Given the description of an element on the screen output the (x, y) to click on. 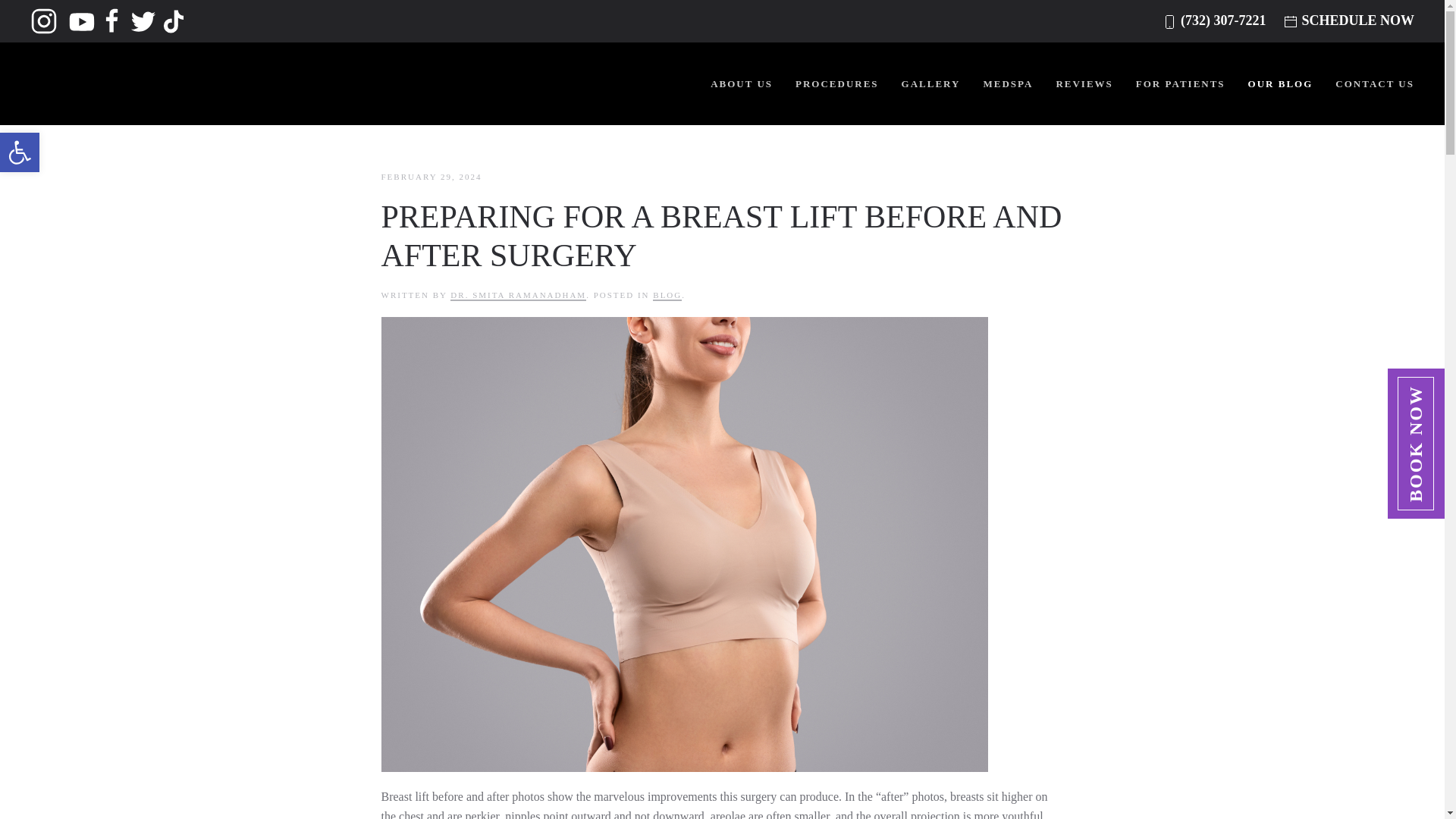
Schedule Now (19, 151)
TikTok (1357, 20)
Dr Smita Instagram (173, 19)
Dr Smita YouTube (44, 19)
Facebook (82, 19)
Accessibility Tools (112, 19)
Accessibility Tools (19, 152)
Social Media Twitter (19, 151)
Preparing For A Breast Lift Before And After Surgery (144, 19)
